Given the description of an element on the screen output the (x, y) to click on. 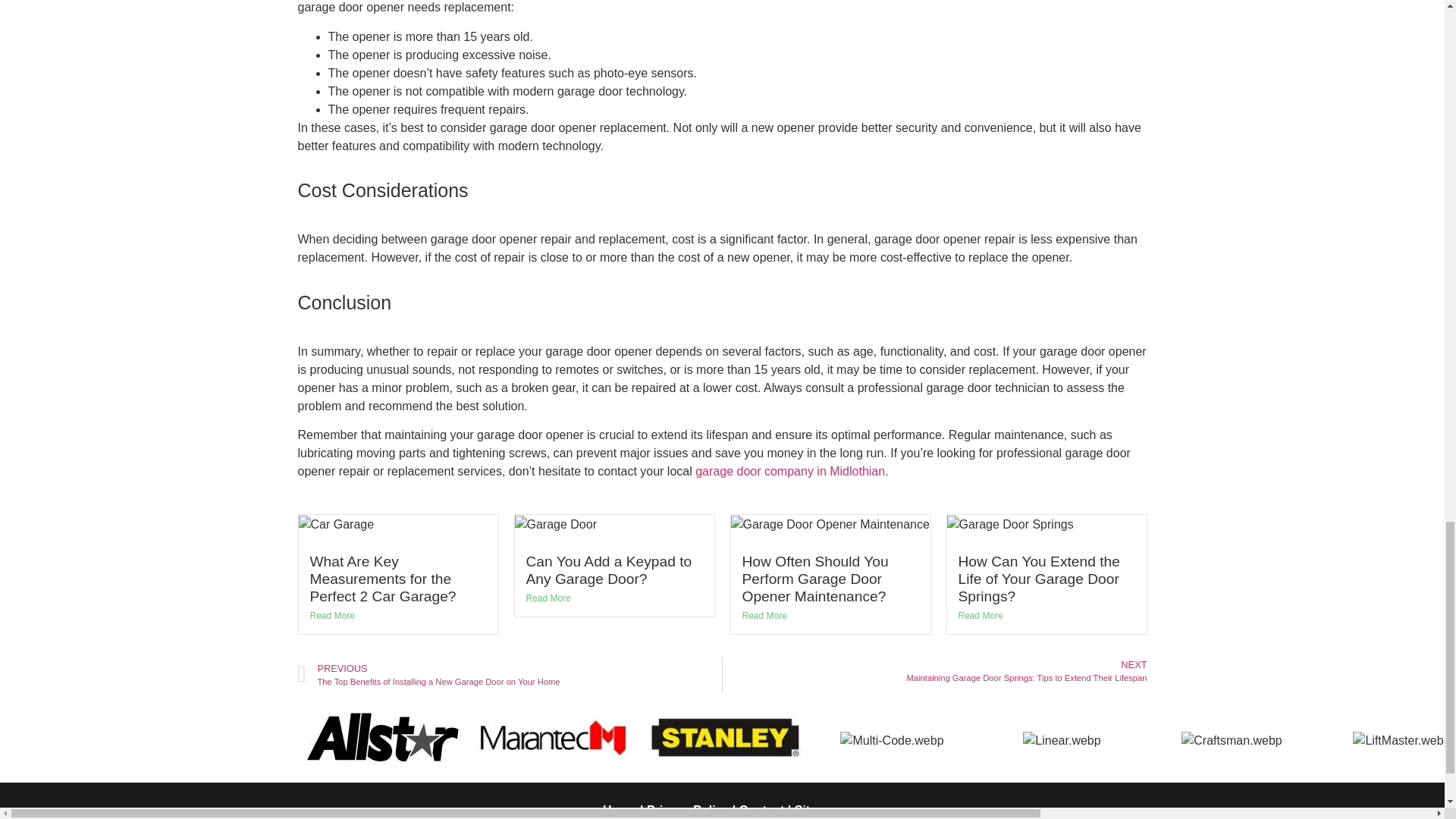
Marantecm (552, 738)
Can You Add a Keypad to Any Garage Door? (609, 570)
How Can You Extend the Life of Your Garage Door Springs? (1038, 578)
Allstar (382, 737)
Car Garage (336, 524)
Multi Code (891, 741)
Stanley (721, 737)
Garage Door Opener Maintenance (830, 524)
Can You Add a Keypad to Any Garage Door? (609, 570)
How Often Should You Perform Garage Door Opener Maintenance? (814, 578)
